Given the description of an element on the screen output the (x, y) to click on. 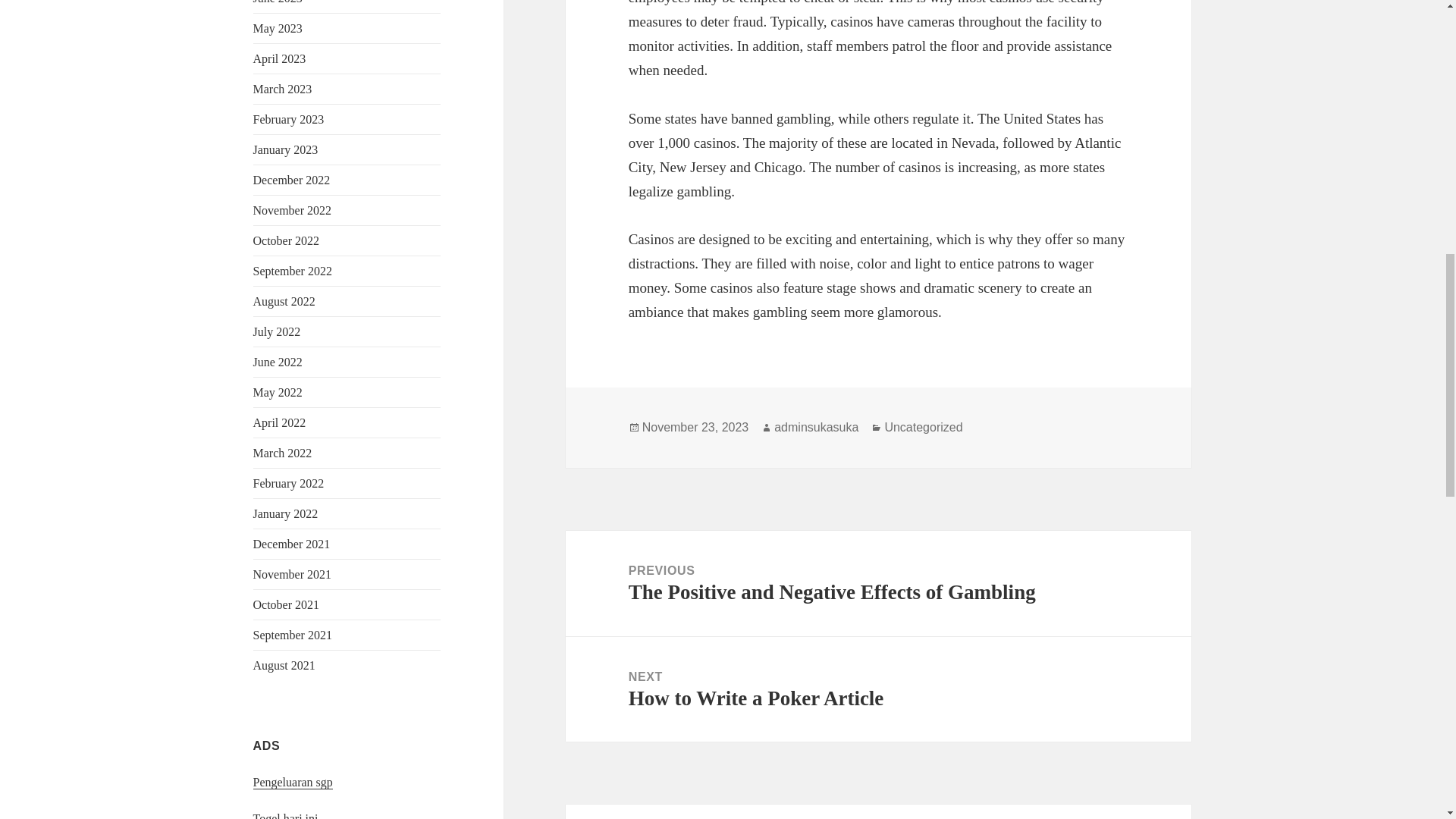
October 2022 (286, 240)
March 2023 (283, 88)
February 2022 (288, 482)
December 2022 (291, 179)
May 2023 (277, 28)
August 2022 (284, 300)
September 2022 (292, 270)
December 2021 (291, 543)
June 2022 (277, 361)
November 2022 (292, 210)
